Given the description of an element on the screen output the (x, y) to click on. 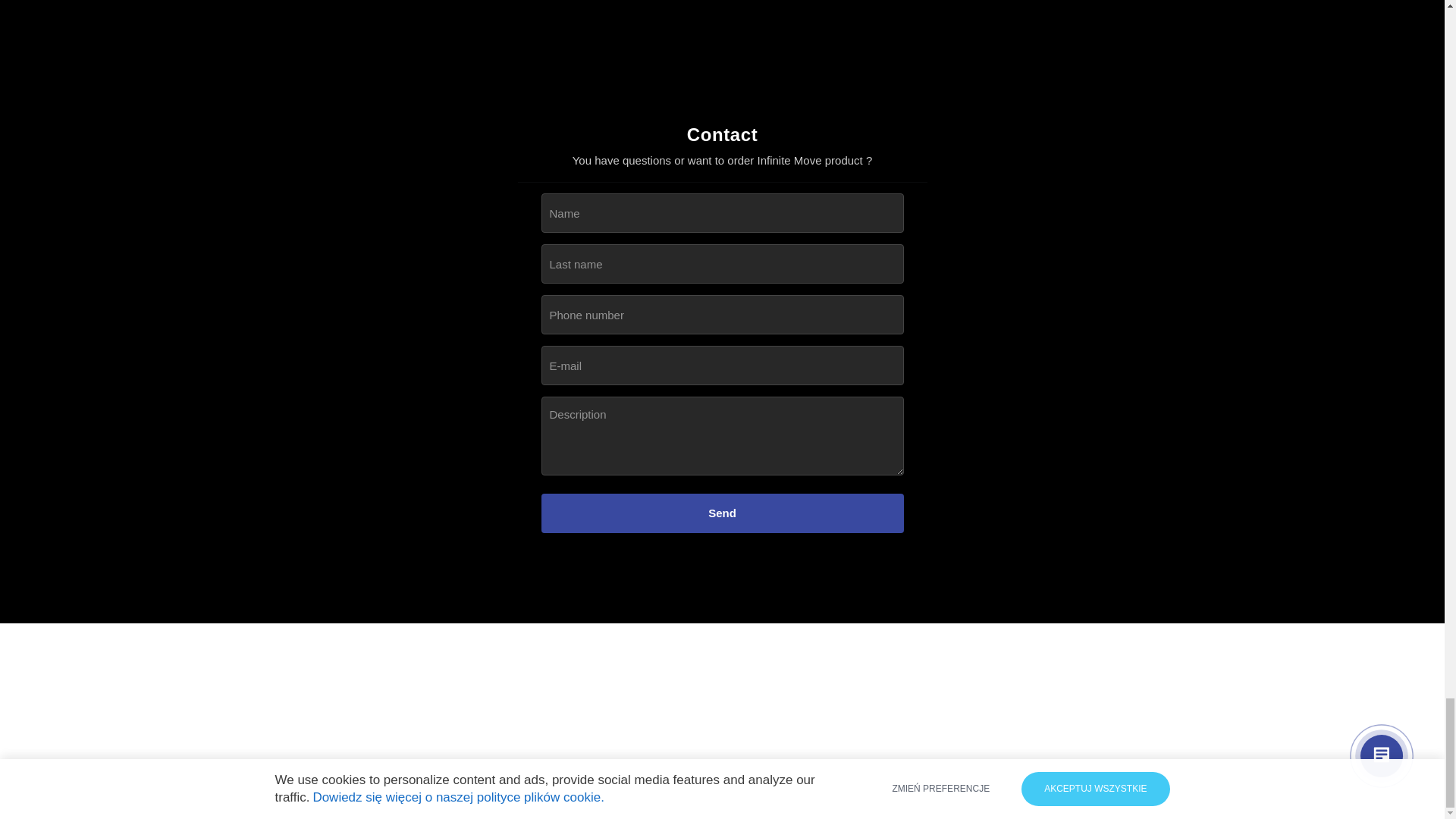
Send (722, 513)
